Given the description of an element on the screen output the (x, y) to click on. 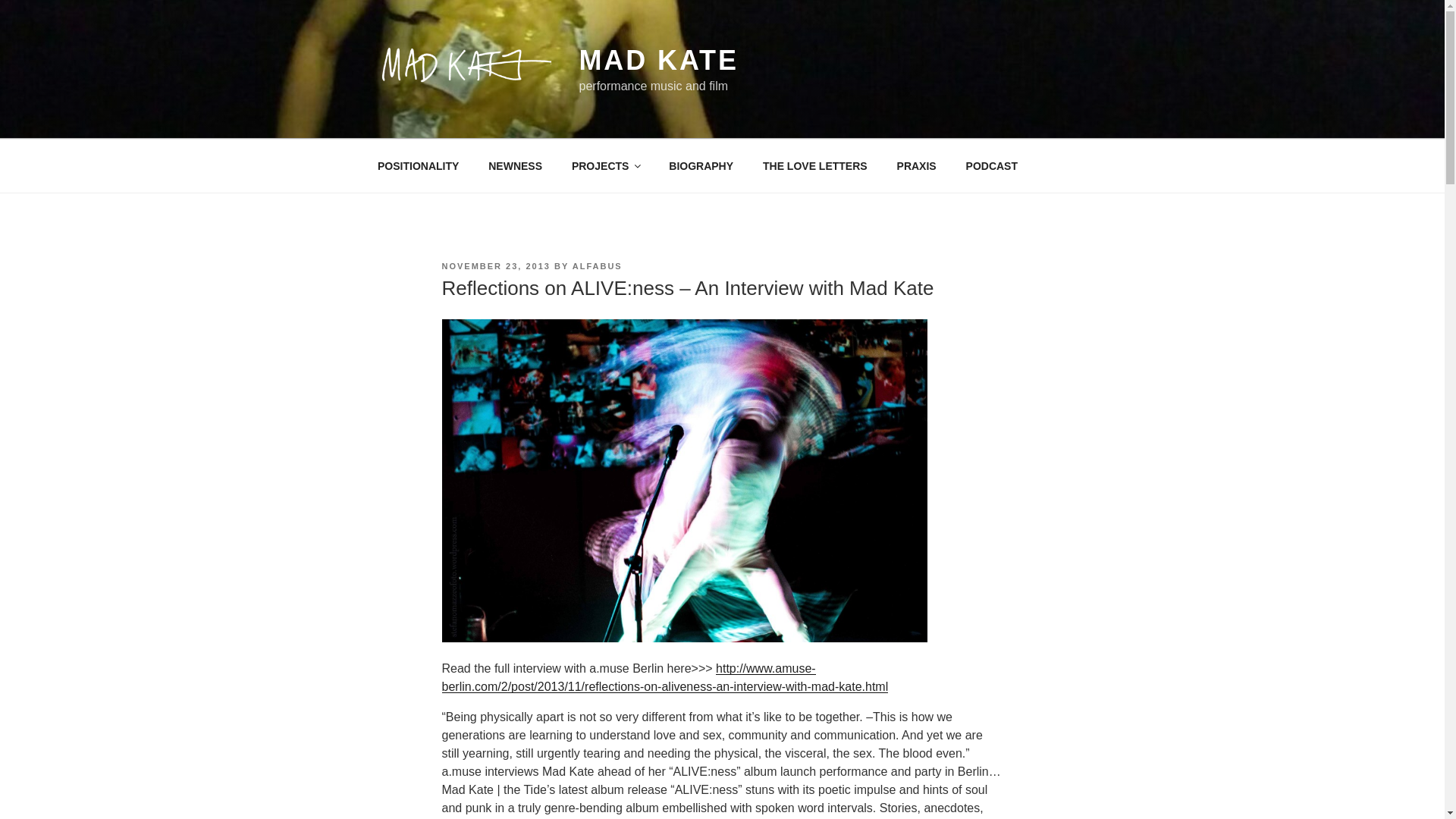
BIOGRAPHY (701, 165)
THE LOVE LETTERS (814, 165)
ALFABUS (597, 266)
PRAXIS (916, 165)
PODCAST (991, 165)
NEWNESS (516, 165)
POSITIONALITY (417, 165)
NOVEMBER 23, 2013 (495, 266)
PROJECTS (604, 165)
MAD KATE (658, 60)
